Given the description of an element on the screen output the (x, y) to click on. 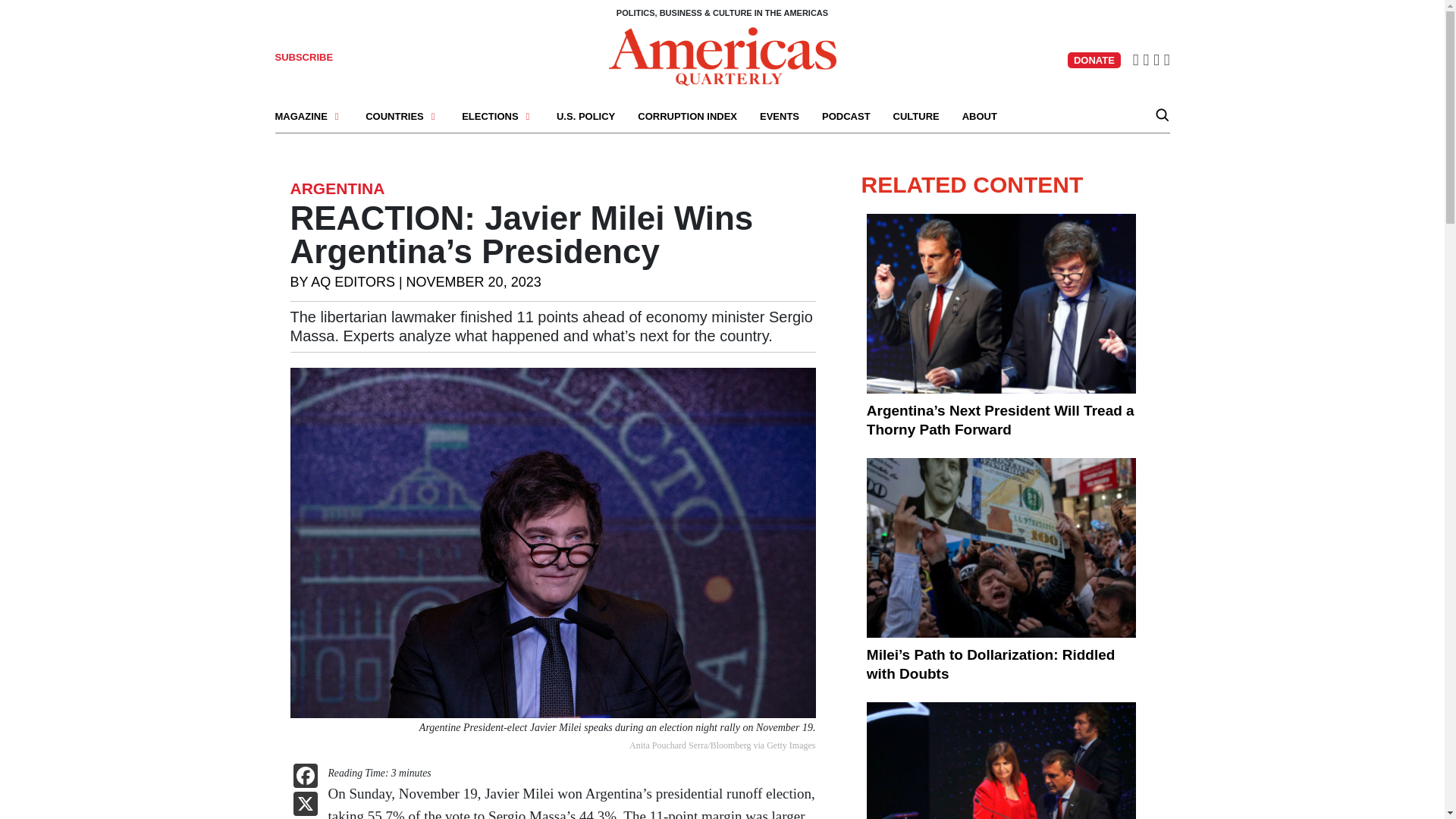
Facebook (304, 777)
Americas Quarterly (721, 56)
Americas Quarterly (721, 54)
DONATE (1094, 59)
X (304, 805)
SUBSCRIBE (304, 57)
